Given the description of an element on the screen output the (x, y) to click on. 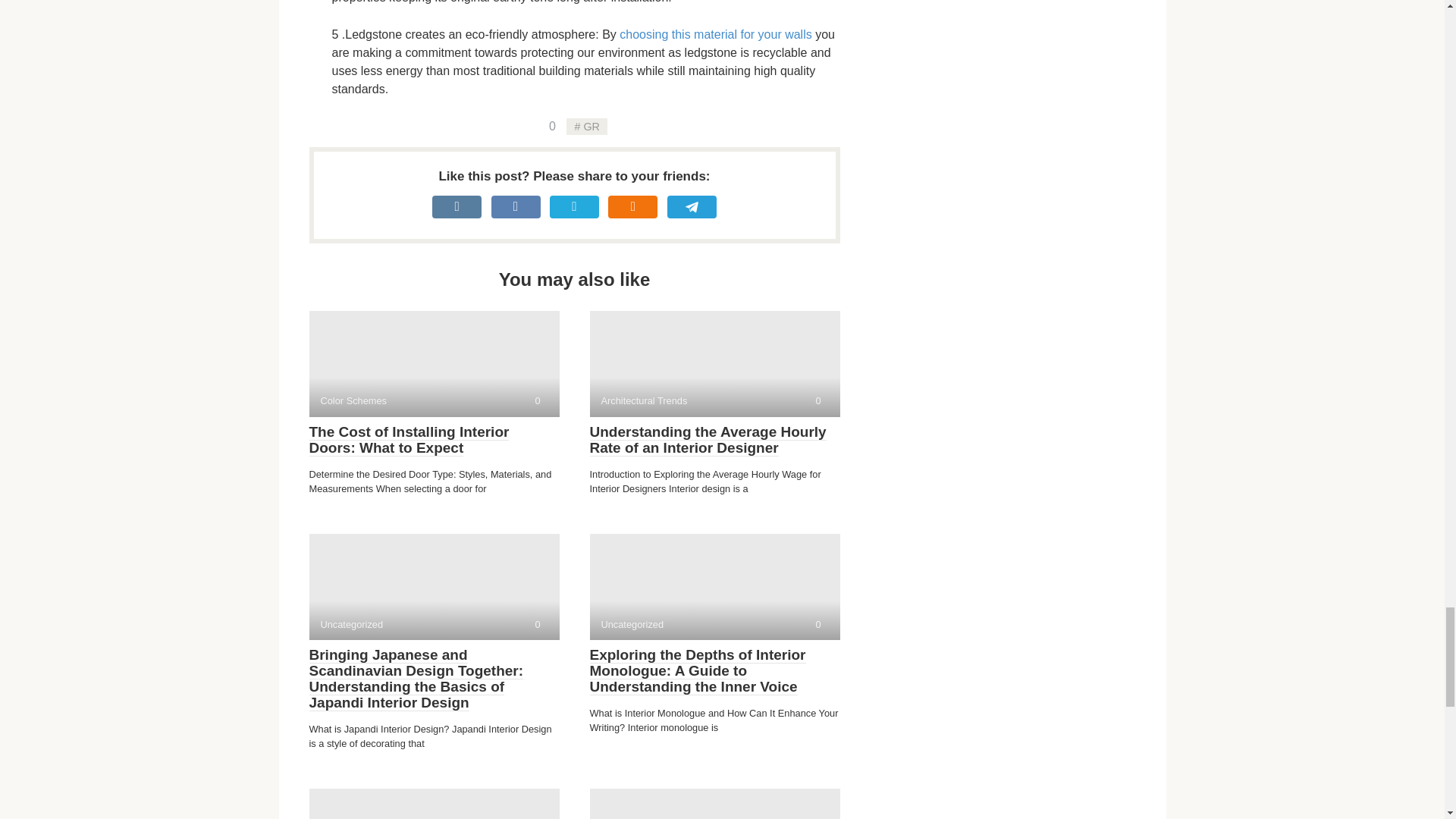
Comments (433, 363)
Comments (537, 624)
Comments (552, 125)
choosing this material for your walls (818, 400)
Comments (715, 33)
GR (818, 624)
Comments (586, 126)
